Given the description of an element on the screen output the (x, y) to click on. 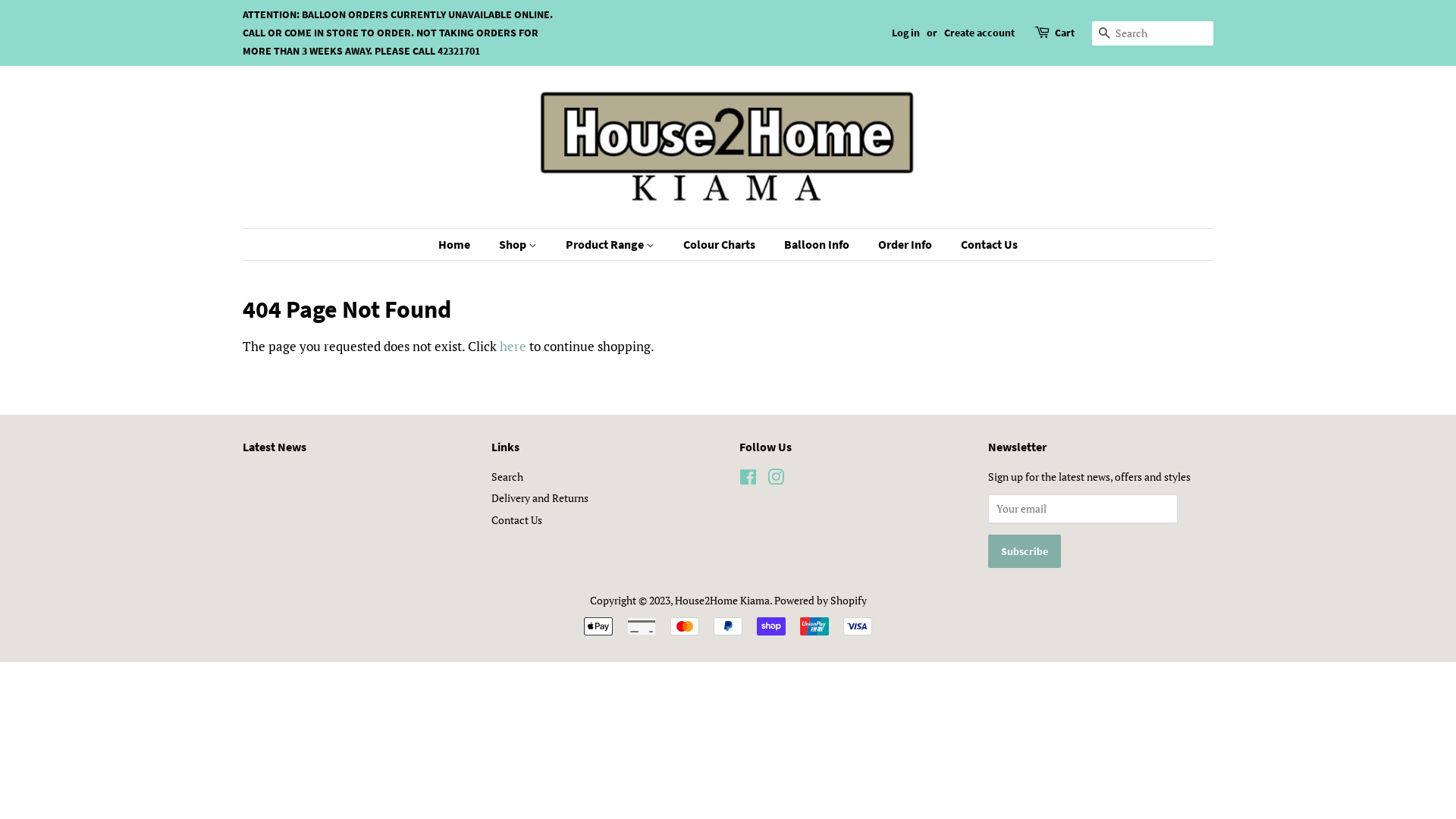
Search Element type: text (1104, 33)
here Element type: text (512, 345)
Log in Element type: text (905, 32)
Contact Us Element type: text (983, 244)
Facebook Element type: text (747, 479)
Create account Element type: text (979, 32)
Order Info Element type: text (906, 244)
Shop Element type: text (519, 244)
Cart Element type: text (1064, 33)
Contact Us Element type: text (516, 519)
Latest News Element type: text (274, 446)
Colour Charts Element type: text (720, 244)
Product Range Element type: text (611, 244)
Balloon Info Element type: text (818, 244)
Search Element type: text (507, 476)
House2Home Kiama Element type: text (721, 600)
Delivery and Returns Element type: text (539, 497)
Home Element type: text (461, 244)
Subscribe Element type: text (1023, 550)
Instagram Element type: text (775, 479)
Powered by Shopify Element type: text (819, 600)
